Given the description of an element on the screen output the (x, y) to click on. 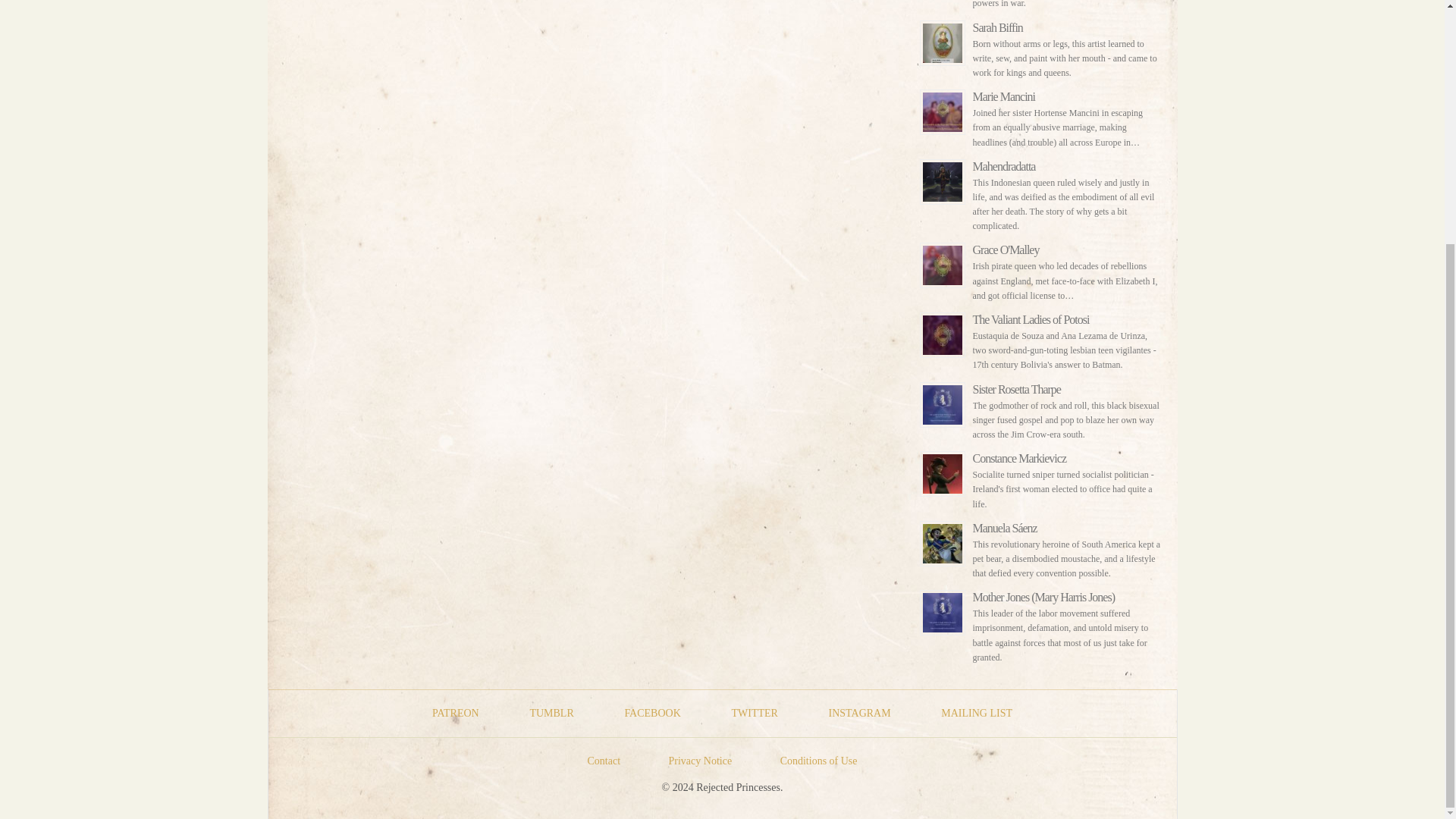
Permalink to Sister Rosetta Tharpe (1039, 408)
Permalink to Grace O'Malley (1039, 268)
Permalink to Taytu Betul (1039, 5)
Permalink to Constance Markievicz (1039, 476)
Permalink to Sarah Biffin (1039, 46)
Permalink to The Valiant Ladies of Potosi (1039, 338)
Permalink to Marie Mancini (1039, 114)
Permalink to Mahendradatta (1039, 191)
